Given the description of an element on the screen output the (x, y) to click on. 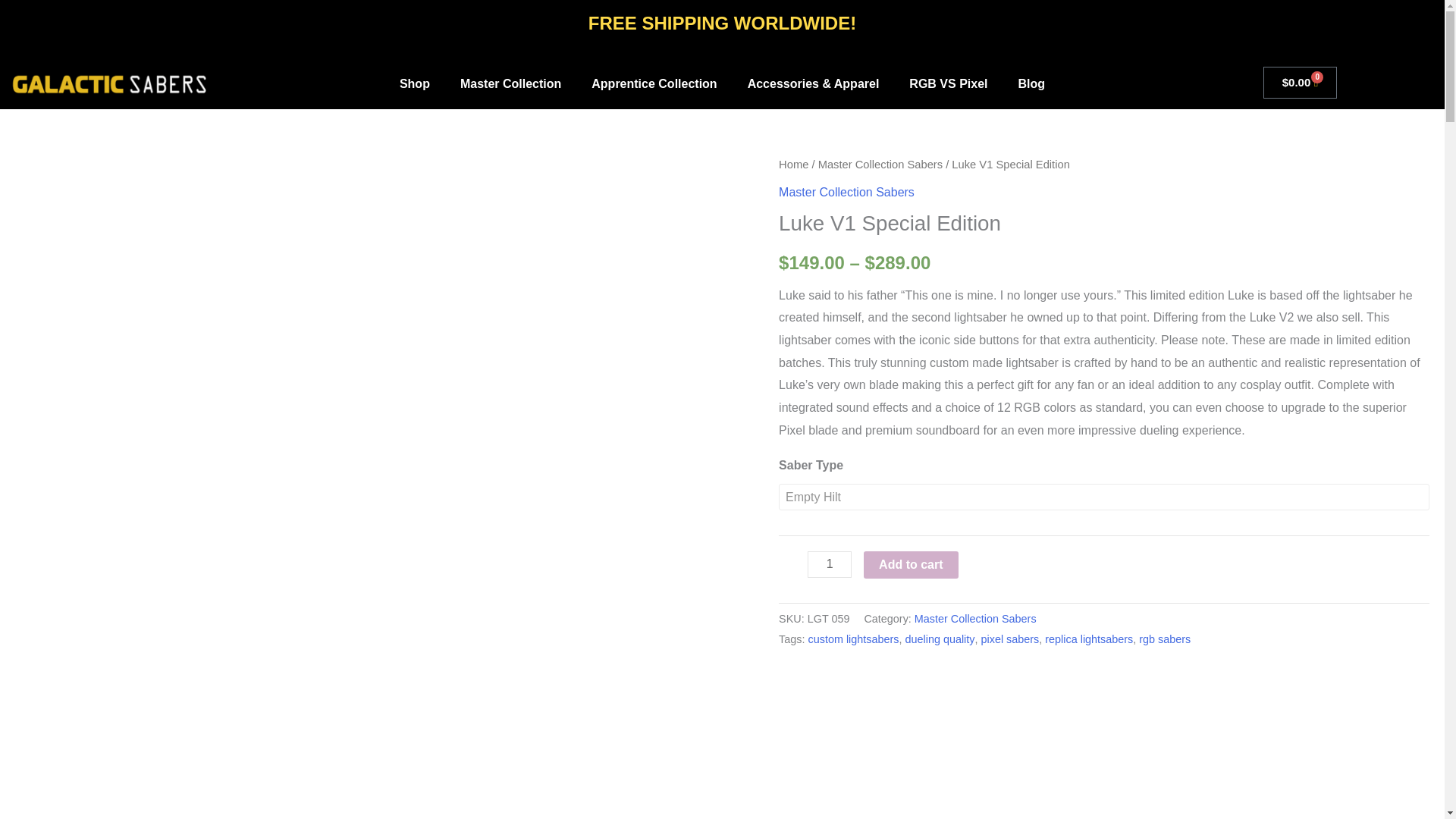
Shop (414, 83)
Master Collection (510, 83)
custom lightsabers (853, 639)
Add to cart (910, 564)
Master Collection Sabers (975, 618)
Home (793, 164)
Blog (1032, 83)
1 (829, 564)
RGB VS Pixel (948, 83)
Master Collection Sabers (846, 192)
Master Collection Sabers (880, 164)
Apprentice Collection (654, 83)
